Given the description of an element on the screen output the (x, y) to click on. 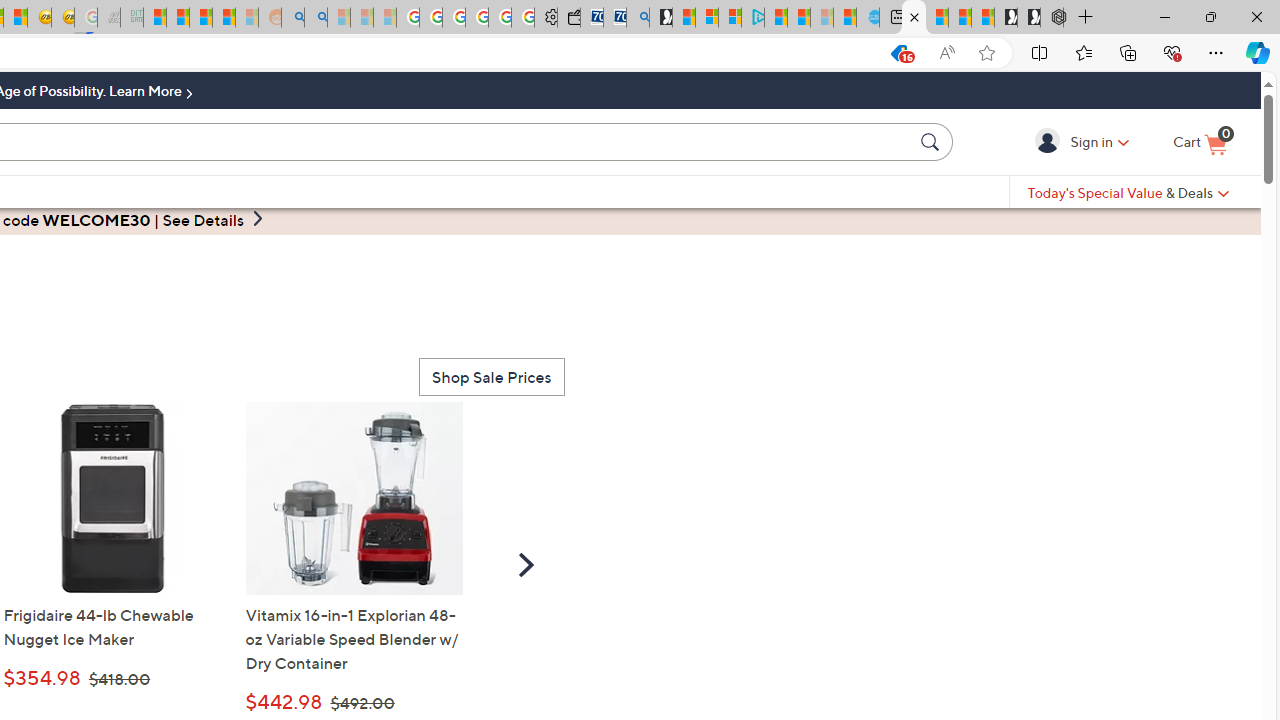
Home | Sky Blue Bikes - Sky Blue Bikes (867, 17)
